Given the description of an element on the screen output the (x, y) to click on. 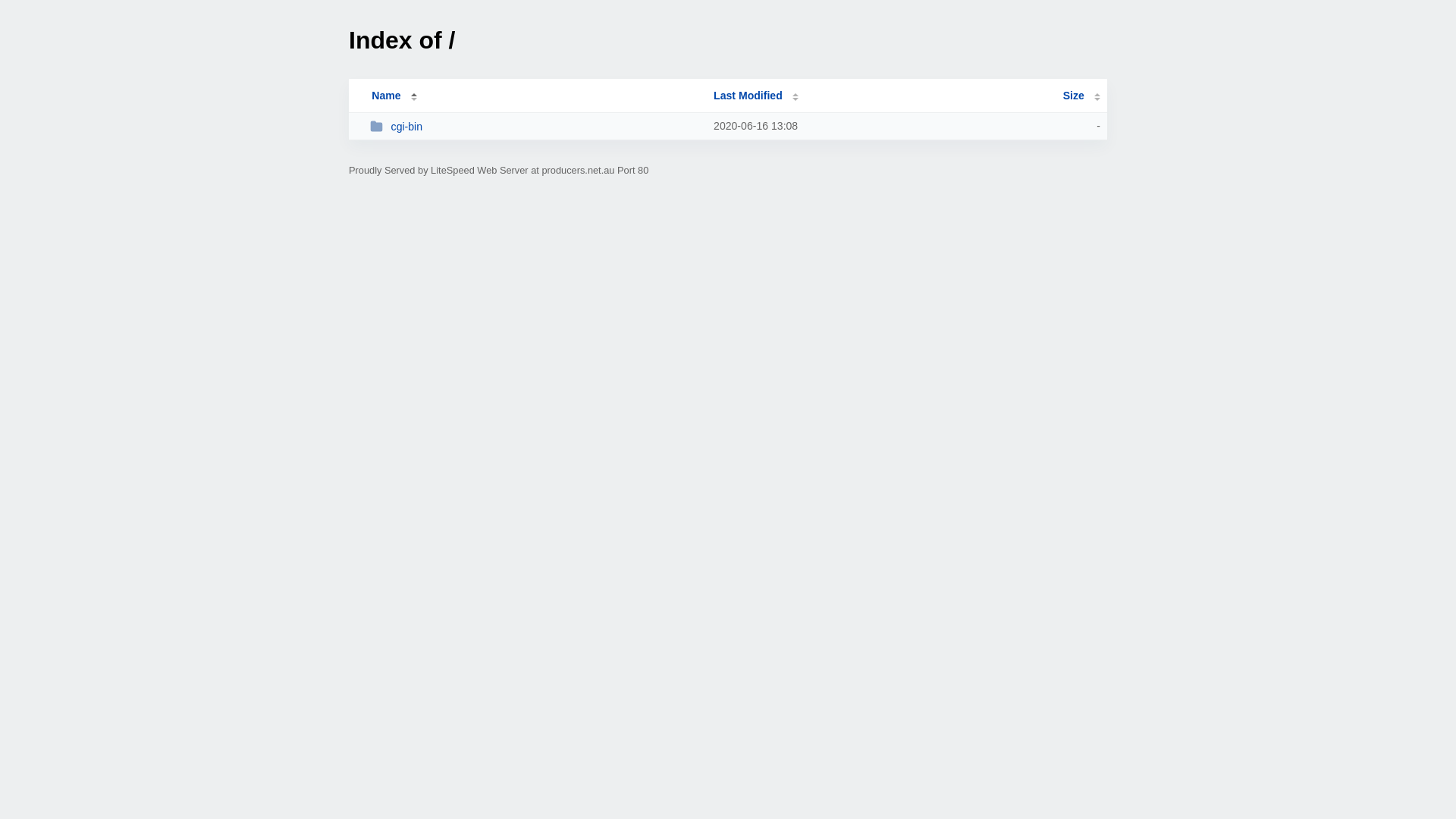
Last Modified Element type: text (755, 95)
cgi-bin Element type: text (534, 125)
Size Element type: text (1081, 95)
Name Element type: text (385, 95)
